Given the description of an element on the screen output the (x, y) to click on. 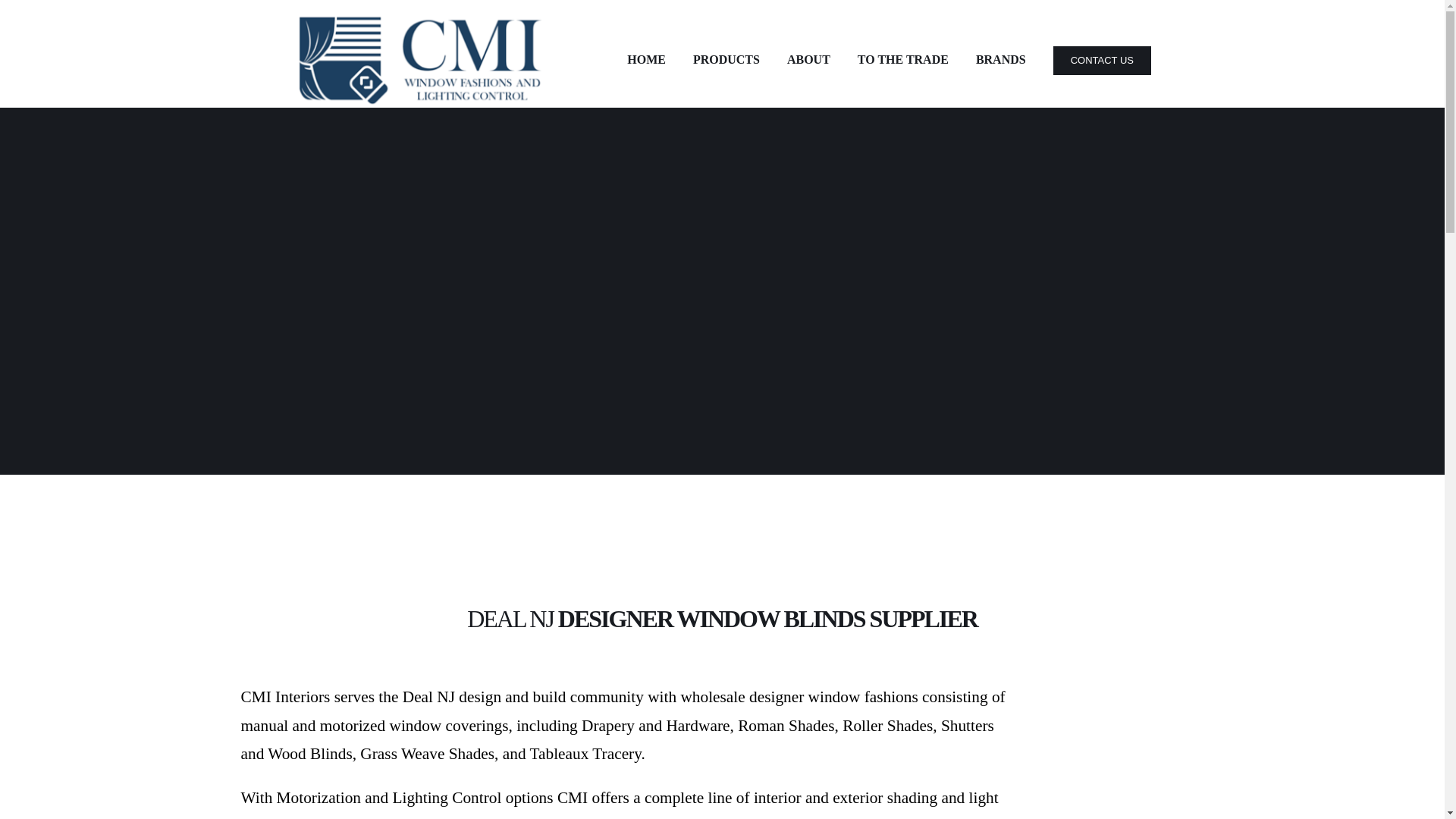
PRODUCTS (726, 60)
CONTACT US (1101, 60)
TO THE TRADE (903, 60)
DEAL NJ DESIGNER WINDOW BLINDS SUPPLIER (1113, 751)
